Given the description of an element on the screen output the (x, y) to click on. 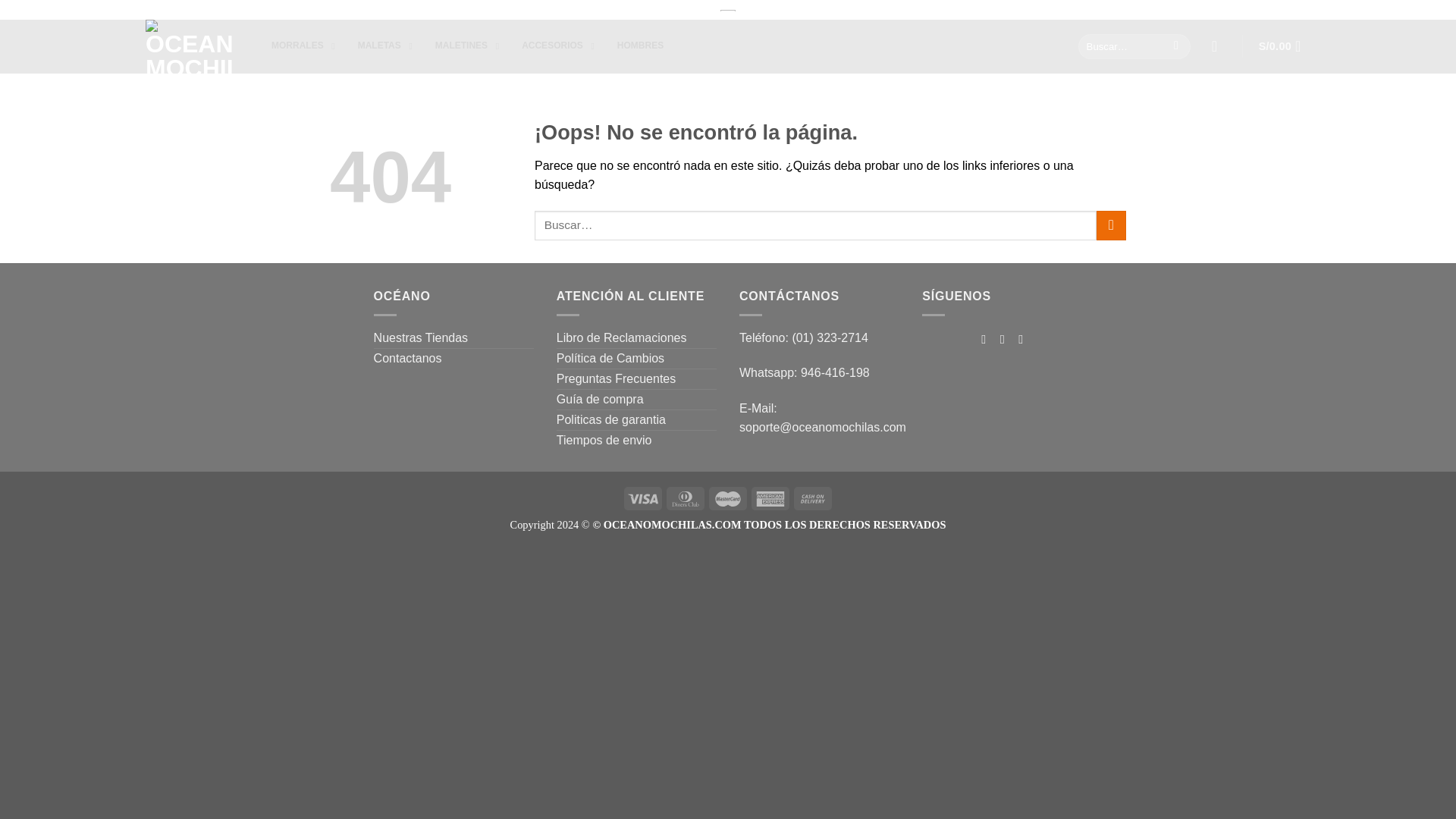
MALETAS (381, 45)
MORRALES (299, 45)
ACCESORIOS (467, 45)
Follow on TikTok (554, 45)
HOMBRES (1039, 9)
Buscar (640, 45)
MALETINES (1176, 45)
Carrito (463, 45)
